Given the description of an element on the screen output the (x, y) to click on. 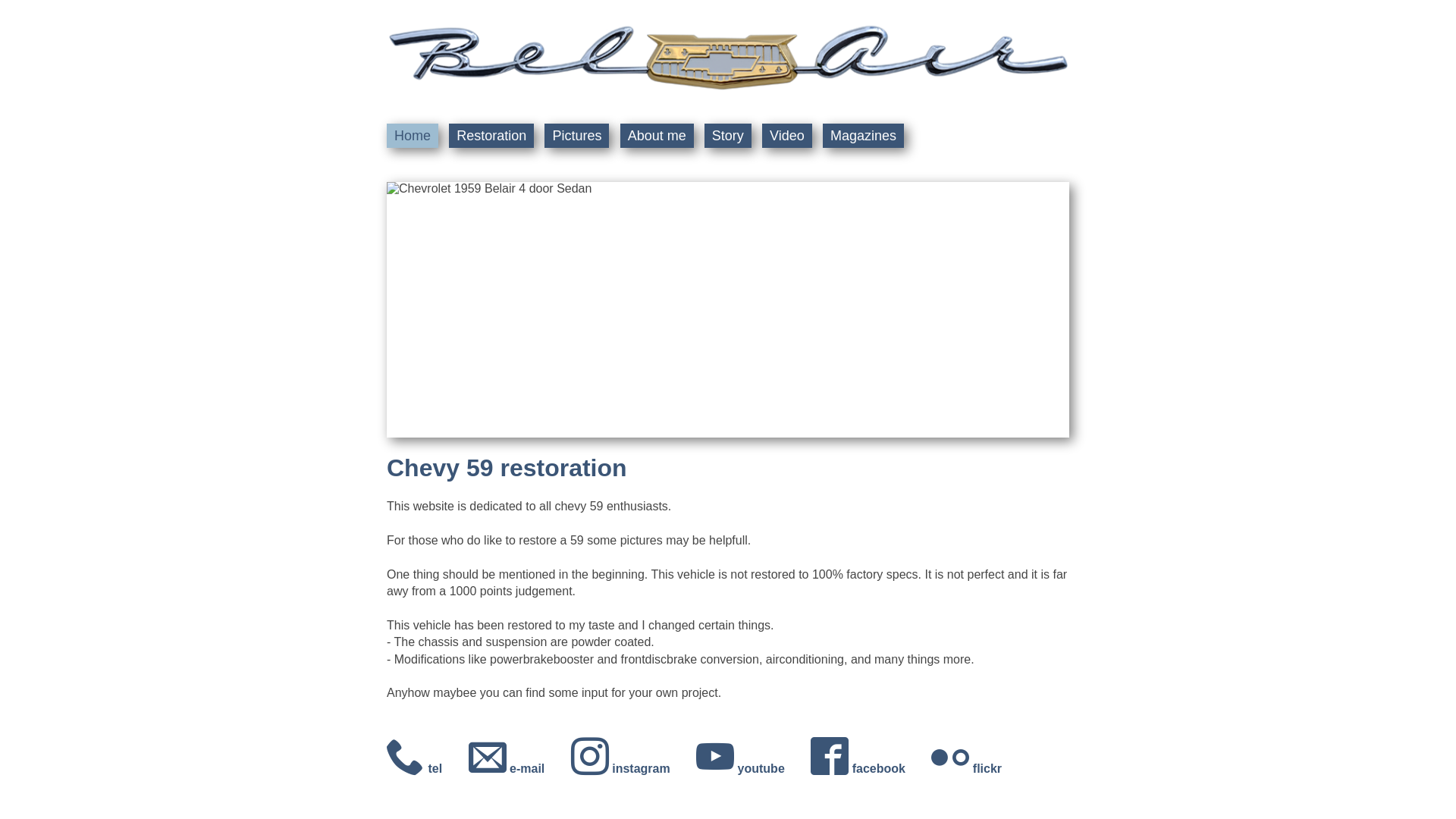
Home Element type: text (412, 135)
Story Element type: text (727, 135)
youtube Element type: text (753, 768)
instagram Element type: text (633, 768)
Logo von Chevy 59 belair Element type: hover (727, 58)
tel Element type: text (427, 768)
Pictures Element type: text (576, 135)
e-mail Element type: text (519, 768)
flickr Element type: text (977, 768)
Magazines Element type: text (862, 135)
Restoration Element type: text (490, 135)
Video Element type: text (787, 135)
About me Element type: text (656, 135)
facebook Element type: text (870, 768)
